Given the description of an element on the screen output the (x, y) to click on. 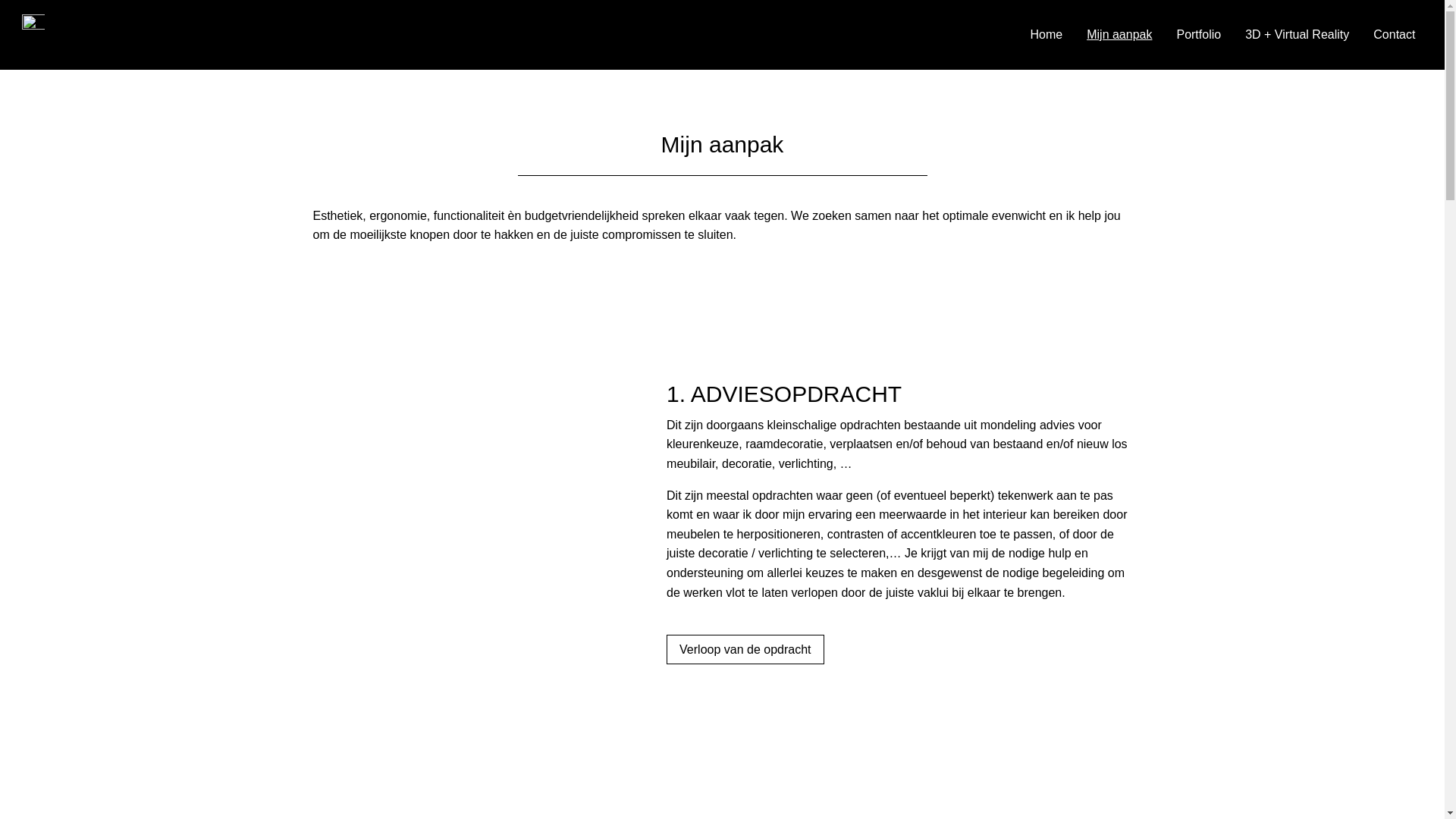
Portfolio Element type: text (1198, 34)
Verloop van de opdracht Element type: text (744, 649)
Mijn aanpak Element type: text (1118, 34)
3D + Virtual Reality Element type: text (1297, 34)
detail 01_1 Element type: hover (456, 522)
Contact Element type: text (1394, 34)
Home Element type: text (1045, 34)
